Given the description of an element on the screen output the (x, y) to click on. 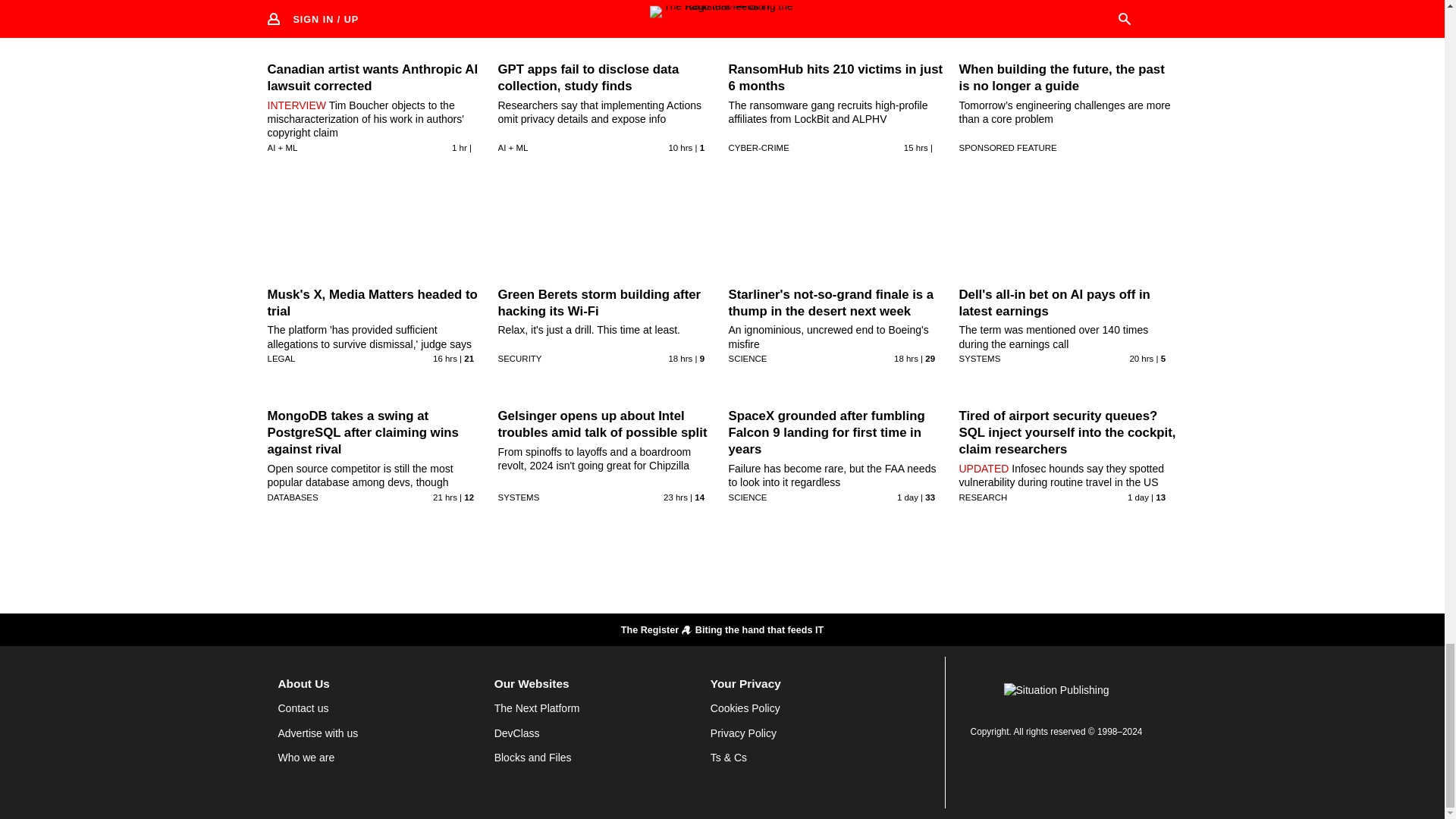
30 Aug 2024 20:30 (905, 358)
30 Aug 2024 22:30 (444, 358)
30 Aug 2024 19:0 (1141, 358)
31 Aug 2024 13:29 (459, 147)
30 Aug 2024 21:0 (680, 358)
31 Aug 2024 5:0 (680, 147)
30 Aug 2024 17:30 (444, 497)
30 Aug 2024 23:55 (916, 147)
30 Aug 2024 16:0 (675, 497)
